Given the description of an element on the screen output the (x, y) to click on. 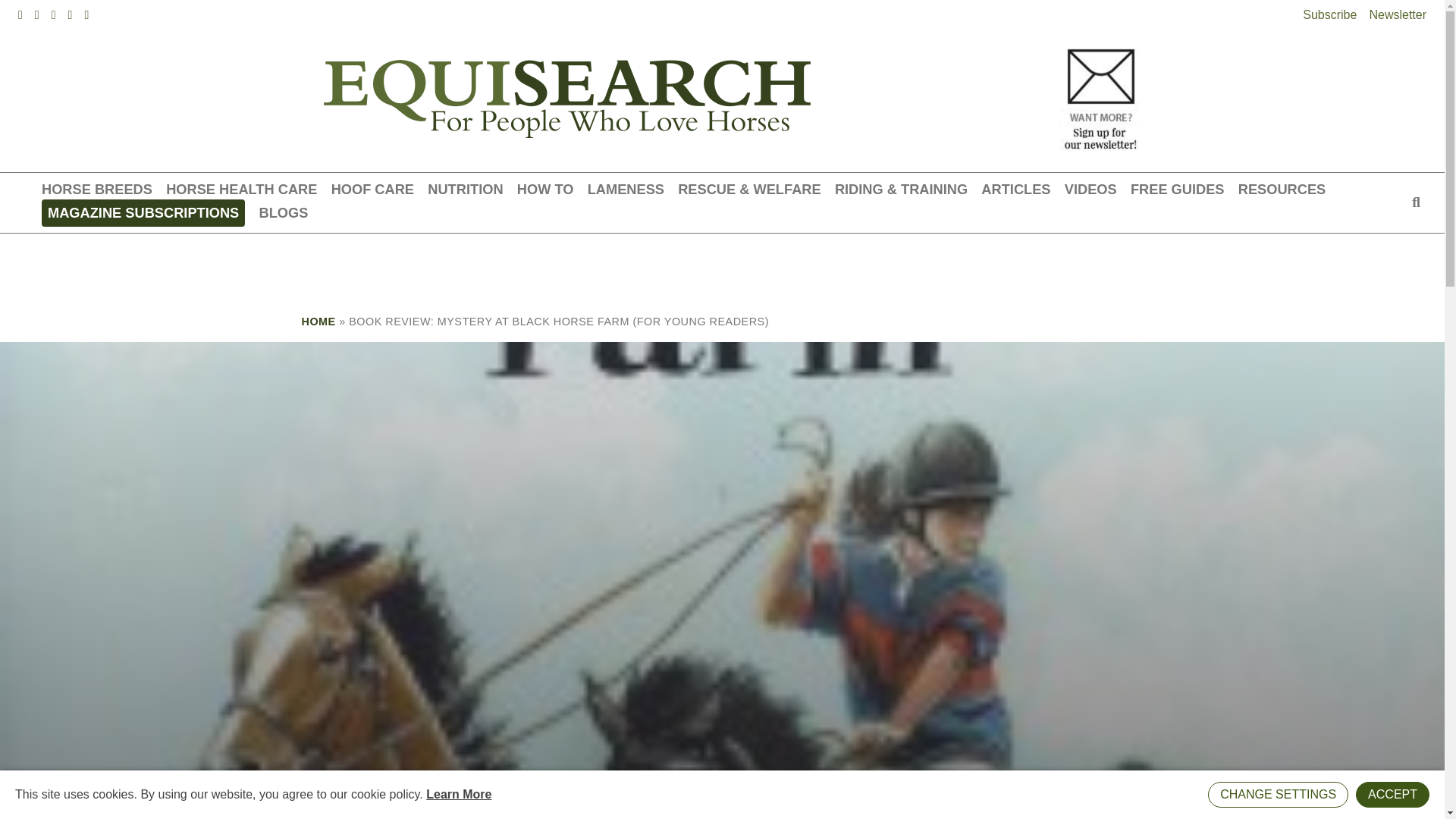
3rd party ad content (721, 267)
